Given the description of an element on the screen output the (x, y) to click on. 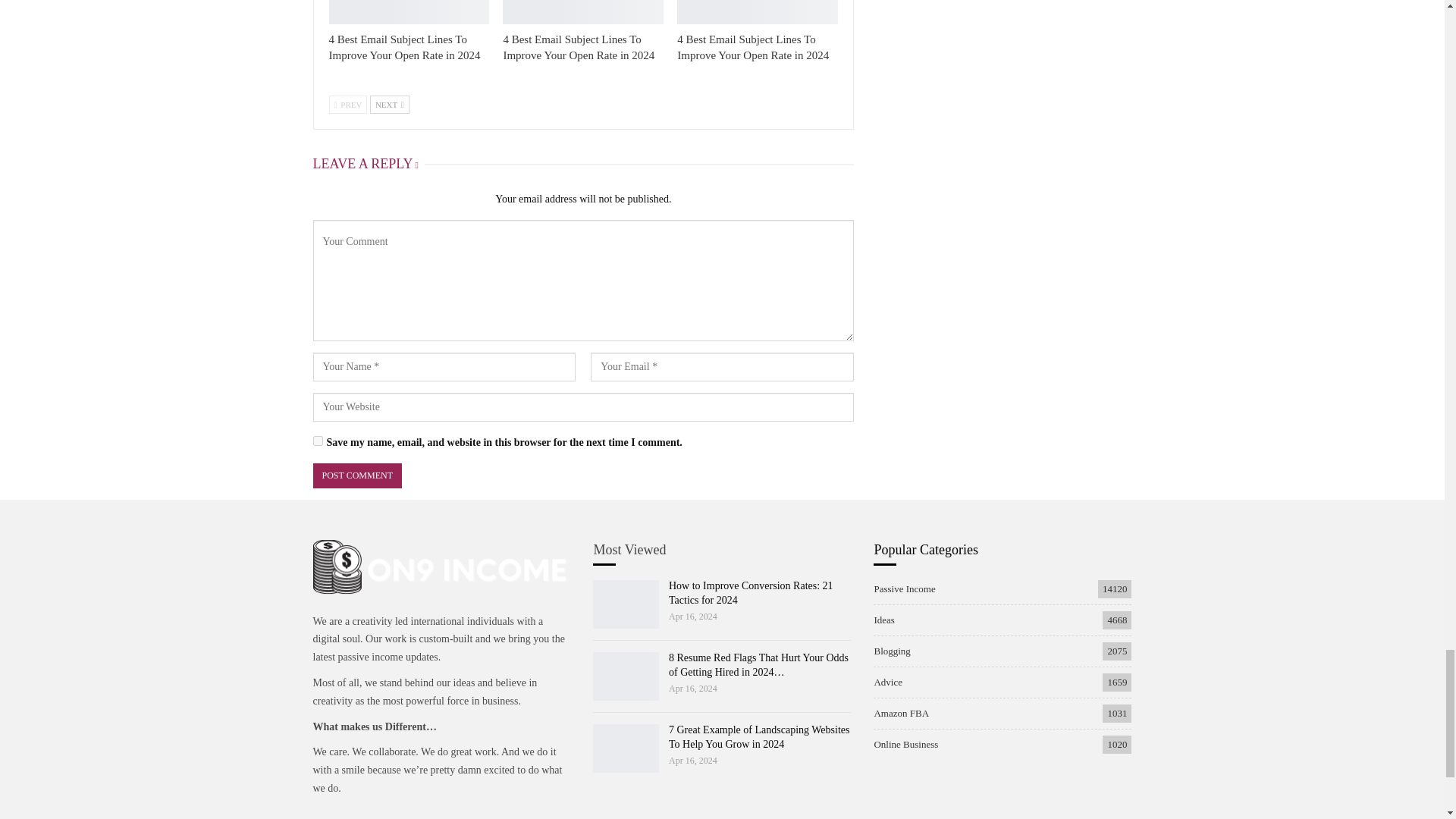
4 Best Email Subject Lines To Improve Your Open Rate in 2024 (582, 12)
yes (317, 440)
4 Best Email Subject Lines To Improve Your Open Rate in 2024 (404, 47)
4 Best Email Subject Lines To Improve Your Open Rate in 2024 (409, 12)
4 Best Email Subject Lines To Improve Your Open Rate in 2024 (757, 12)
Post Comment (357, 475)
4 Best Email Subject Lines To Improve Your Open Rate in 2024 (577, 47)
4 Best Email Subject Lines To Improve Your Open Rate in 2024 (752, 47)
